Given the description of an element on the screen output the (x, y) to click on. 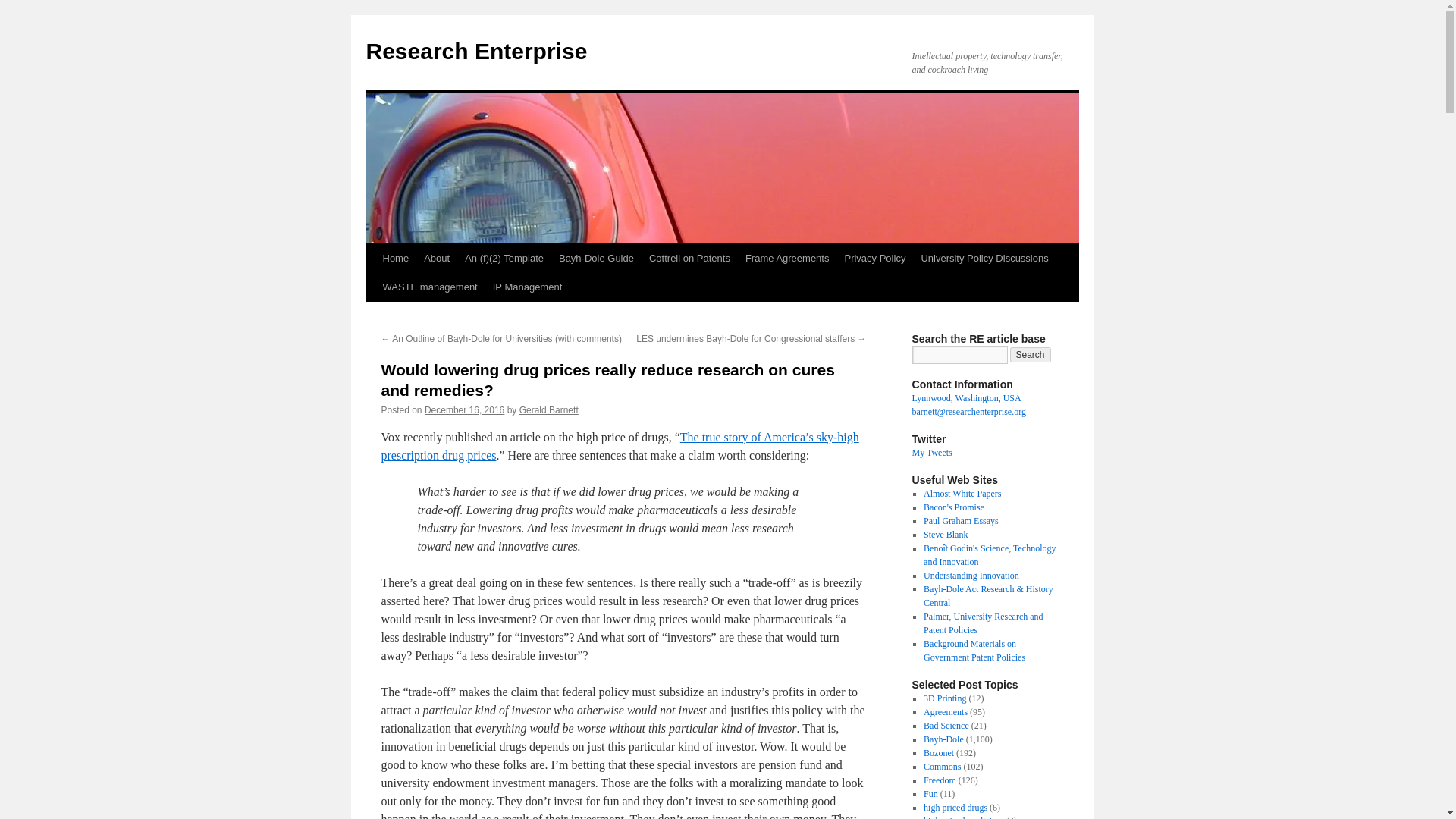
University Policy Discussions (983, 258)
Research Enterprise (475, 50)
Search (1030, 354)
Gerald Barnett (548, 409)
7:54 am (464, 409)
View all posts by Gerald Barnett (548, 409)
Cottrell on Patents (690, 258)
Frame Agreements (787, 258)
Privacy Policy (873, 258)
IP Management (527, 287)
